Given the description of an element on the screen output the (x, y) to click on. 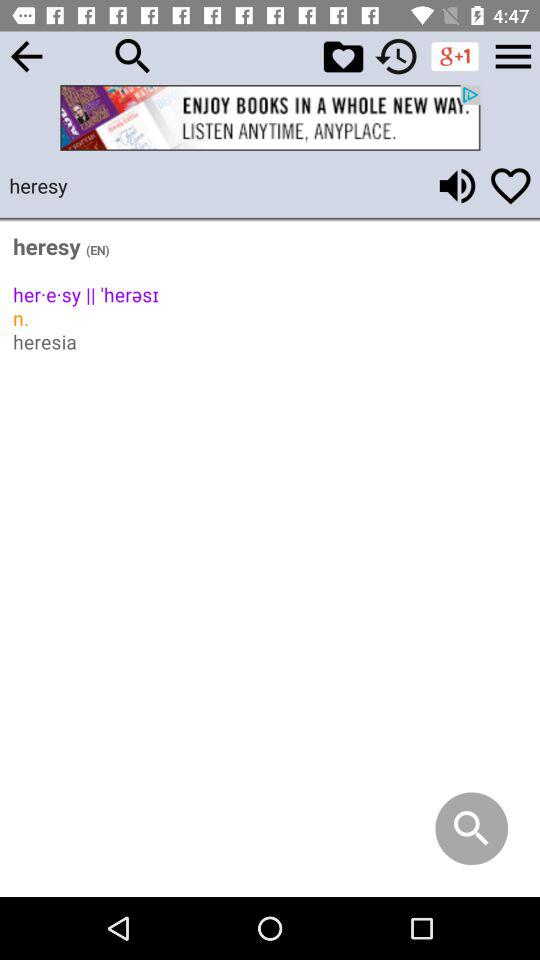
back button (26, 56)
